Given the description of an element on the screen output the (x, y) to click on. 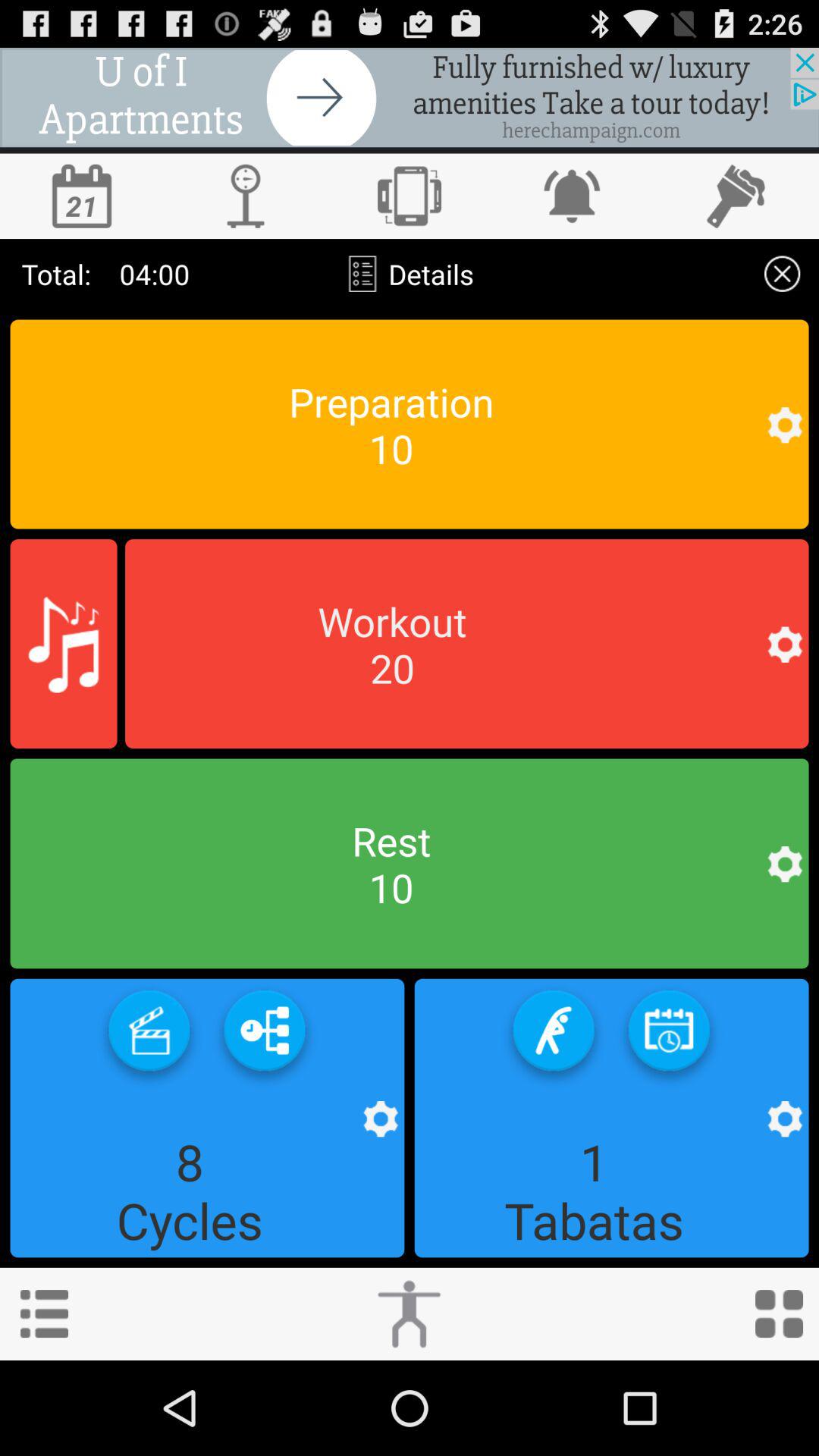
select the alarm option (573, 195)
